Given the description of an element on the screen output the (x, y) to click on. 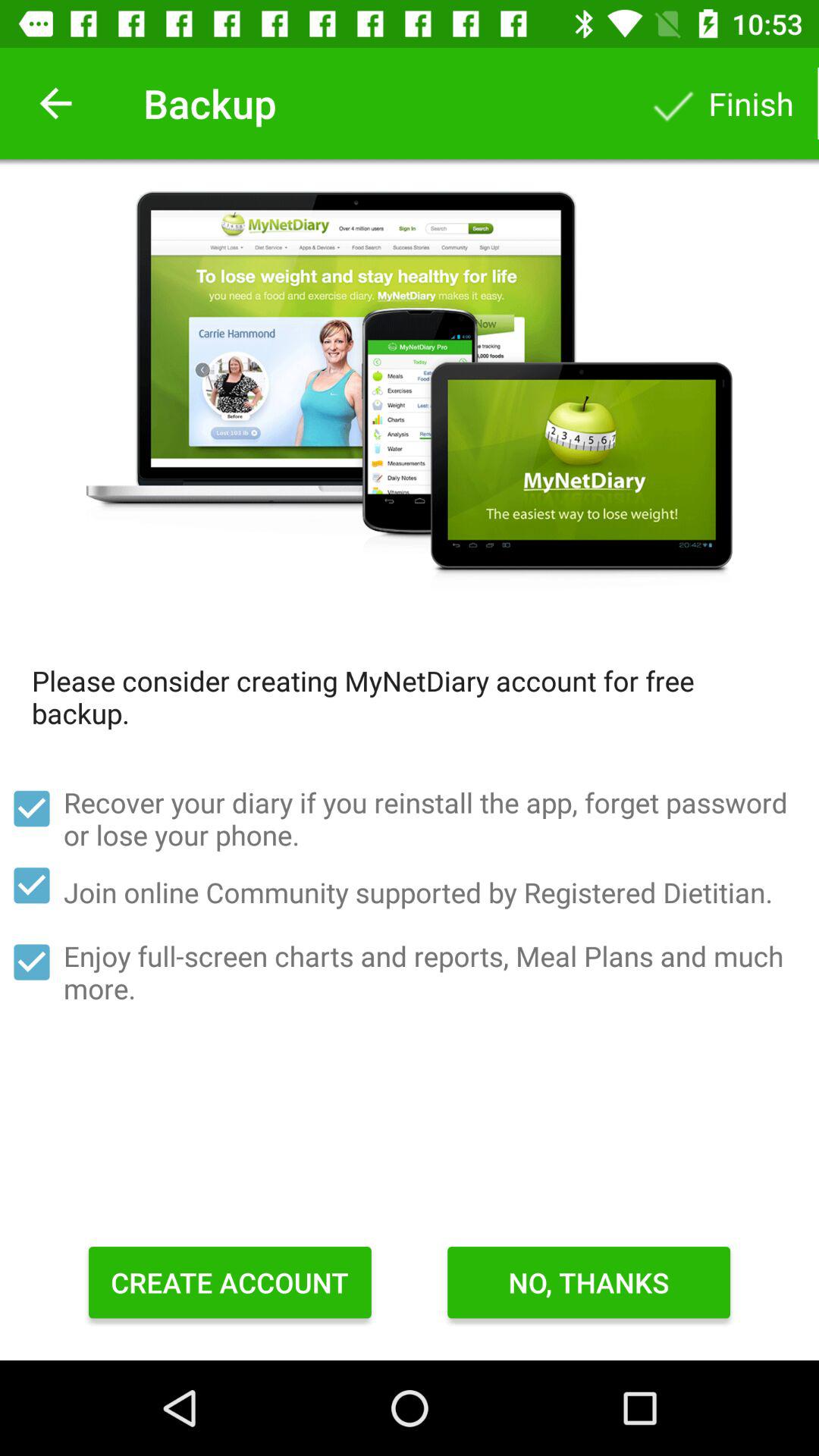
turn off icon at the bottom left corner (229, 1282)
